Given the description of an element on the screen output the (x, y) to click on. 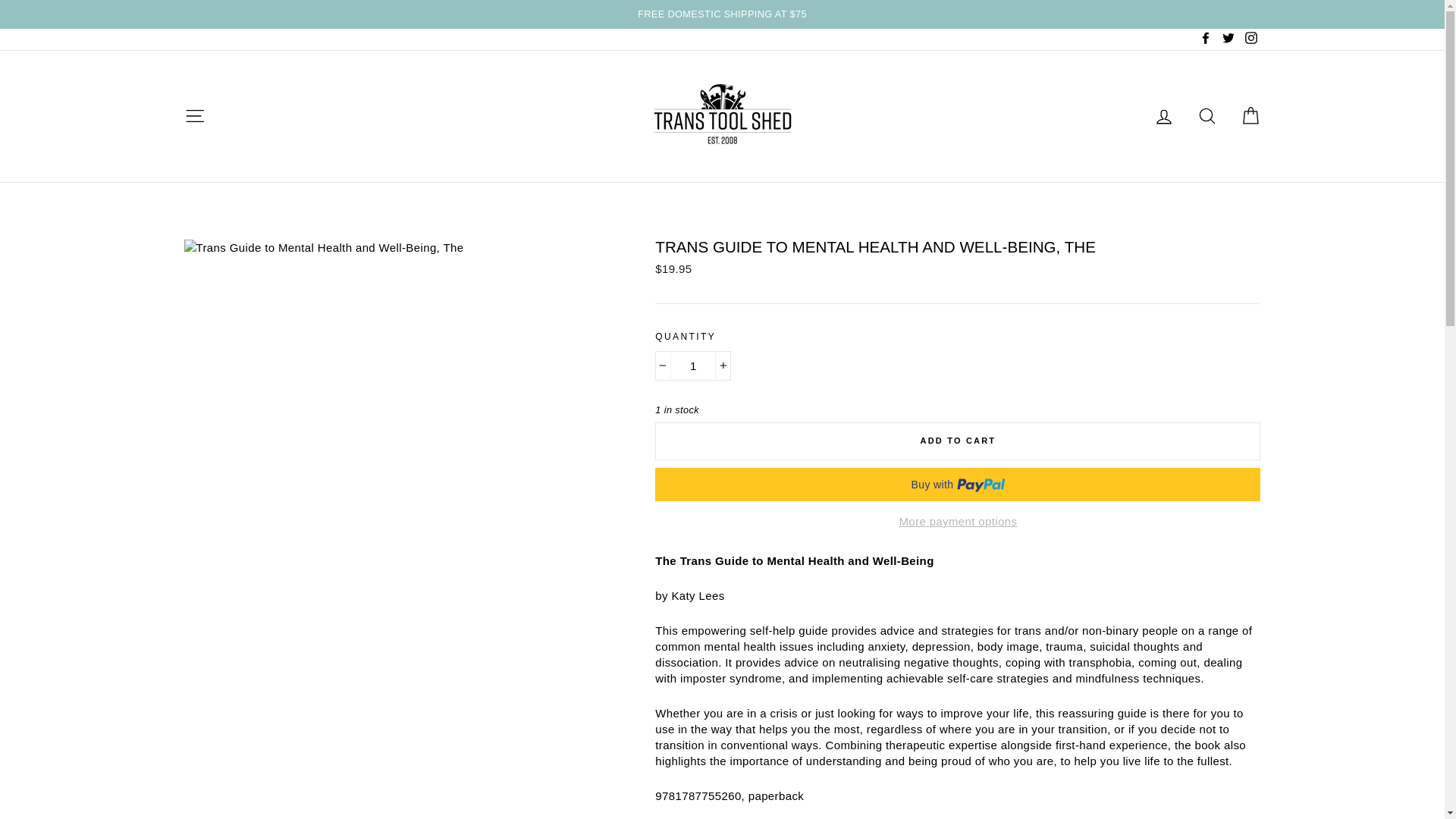
Trans Tool Shed on Twitter (1228, 38)
Trans Tool Shed on Facebook (1205, 38)
1 (692, 365)
Trans Tool Shed on Instagram (1250, 38)
